Given the description of an element on the screen output the (x, y) to click on. 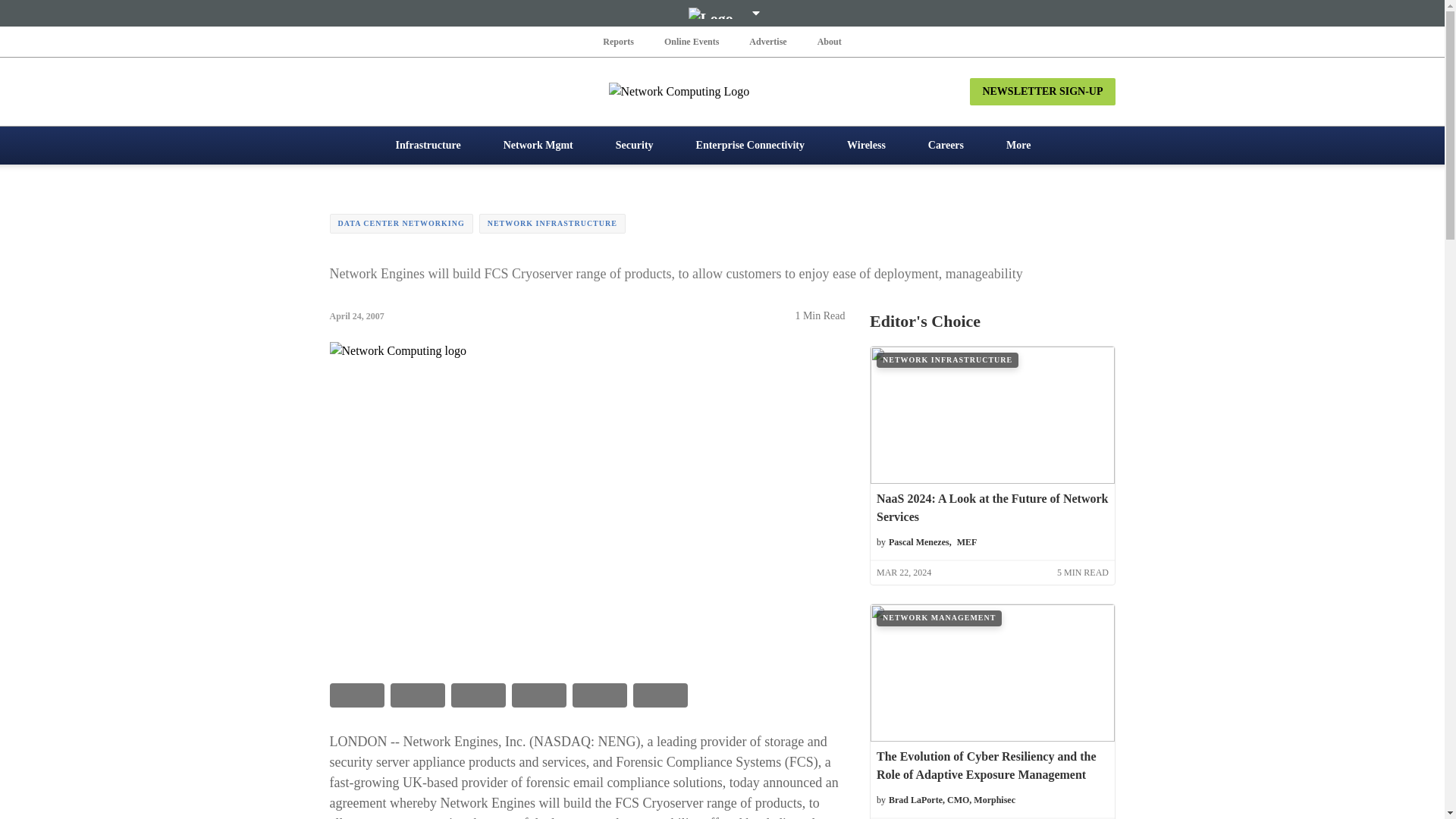
Reports (618, 41)
Advertise (767, 41)
Network Computing Logo (721, 91)
NEWSLETTER SIGN-UP (1042, 90)
Online Events (691, 41)
About (828, 41)
